Given the description of an element on the screen output the (x, y) to click on. 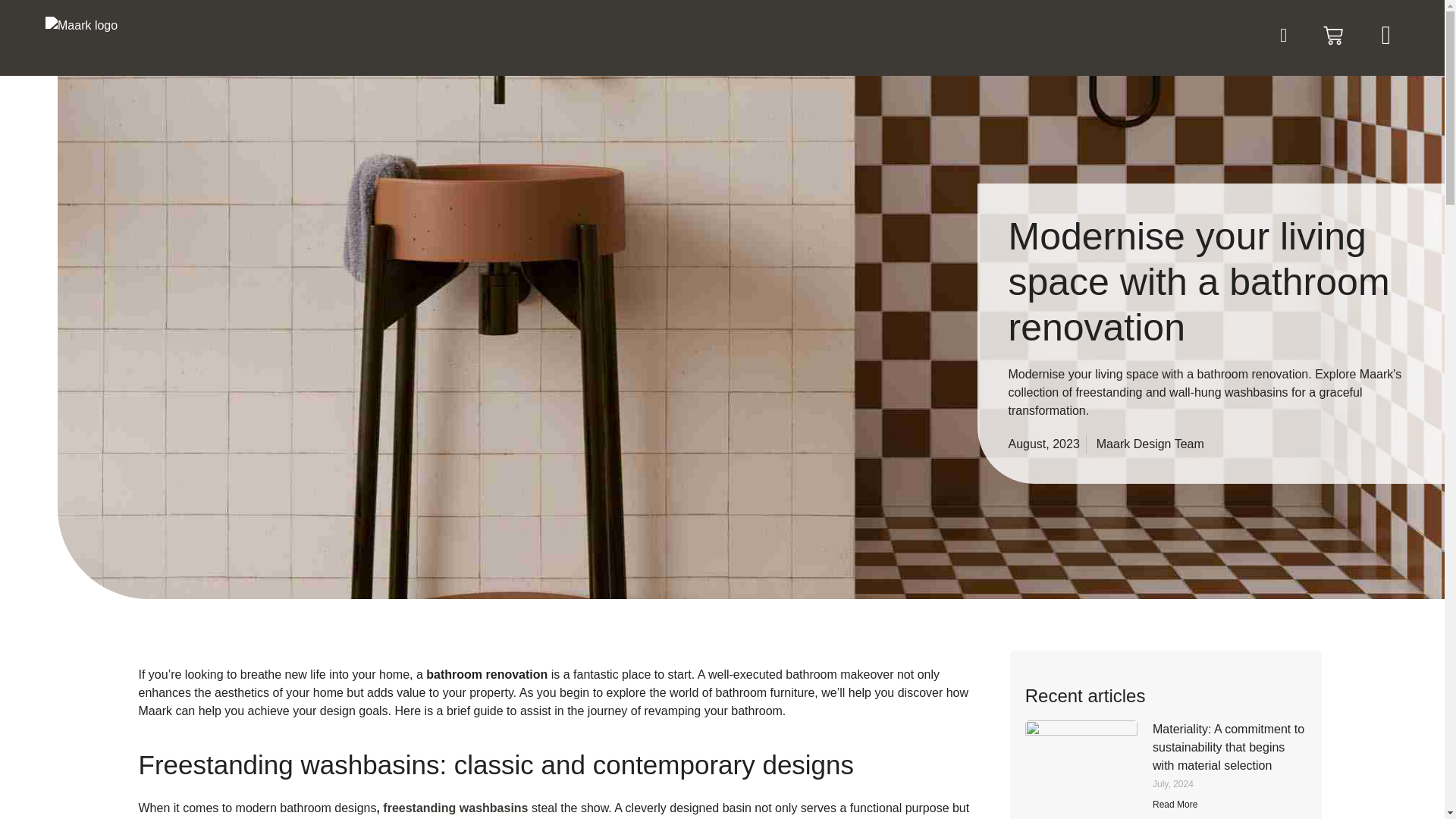
freestanding washbasins (454, 807)
